Given the description of an element on the screen output the (x, y) to click on. 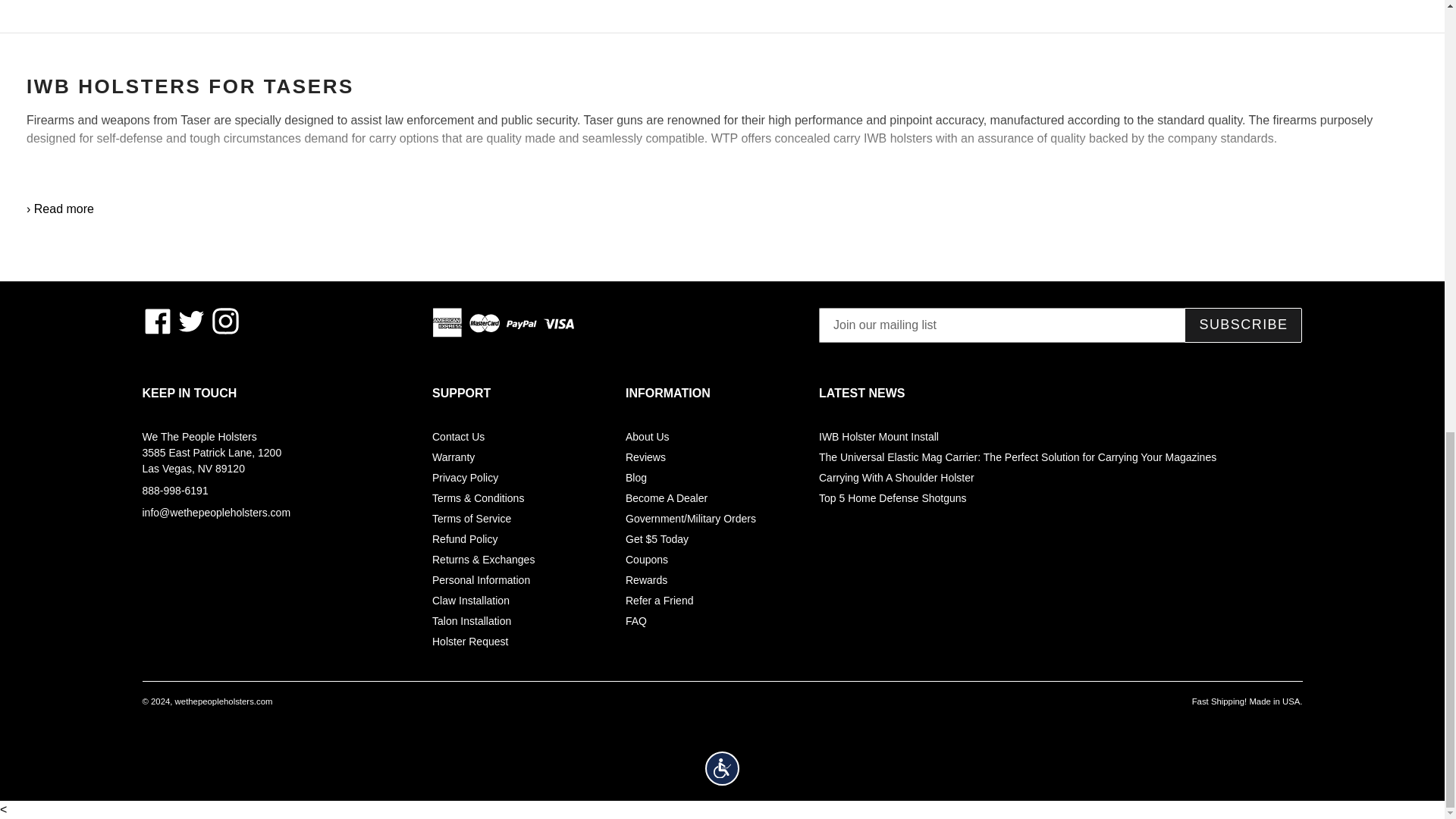
wethepeopleholsters.com on Facebook (157, 320)
wethepeopleholsters.com on Twitter (191, 320)
wethepeopleholsters.com on Instagram (225, 320)
